Given the description of an element on the screen output the (x, y) to click on. 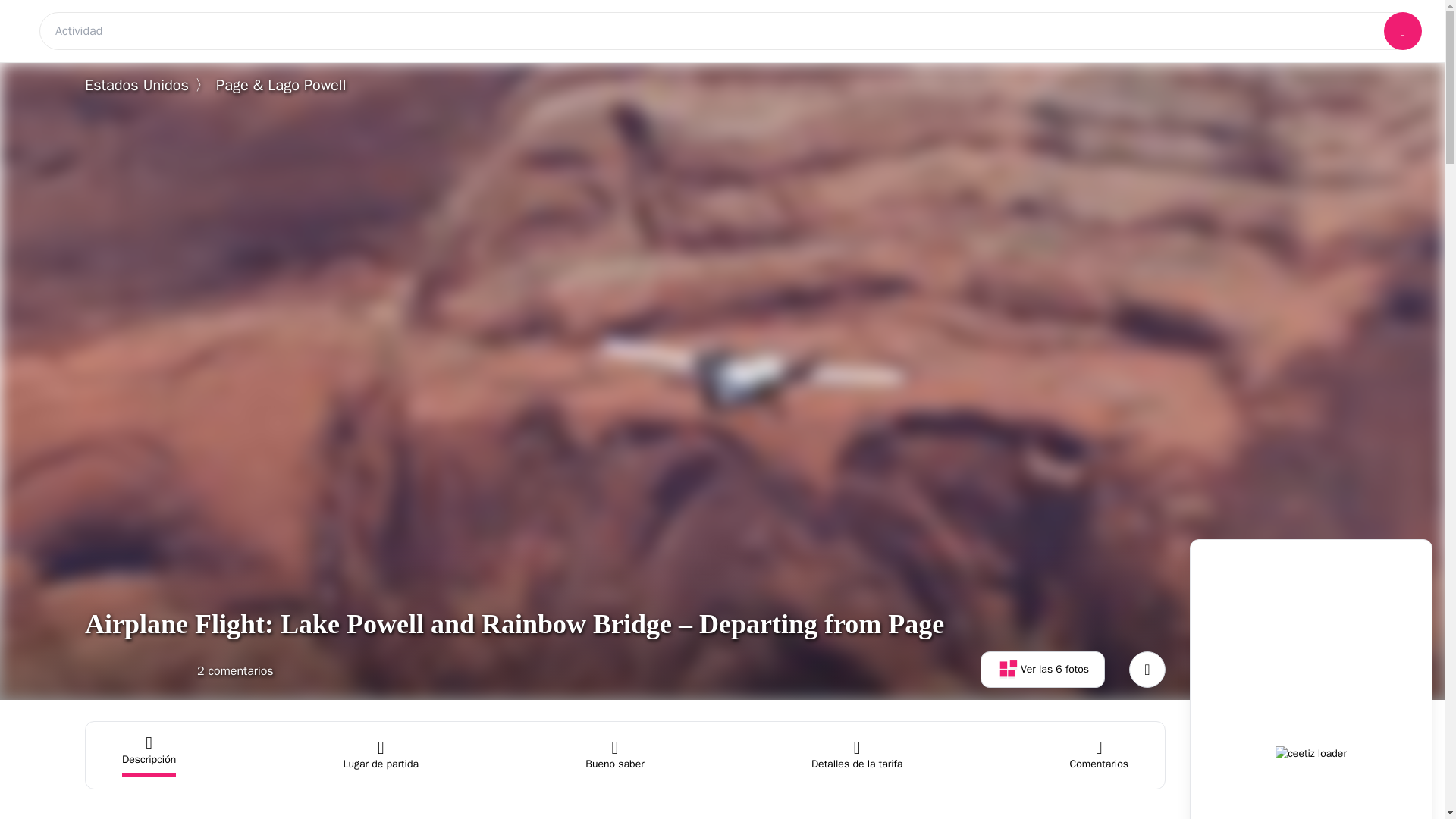
Estados Unidos (136, 85)
Comentarios (1099, 755)
Comentarios (1099, 755)
Detalles de la tarifa (856, 755)
Bueno saber (614, 755)
Detalles de la tarifa (856, 755)
Lugar de partida (380, 755)
Bueno saber (178, 669)
Lugar de partida (614, 755)
